Given the description of an element on the screen output the (x, y) to click on. 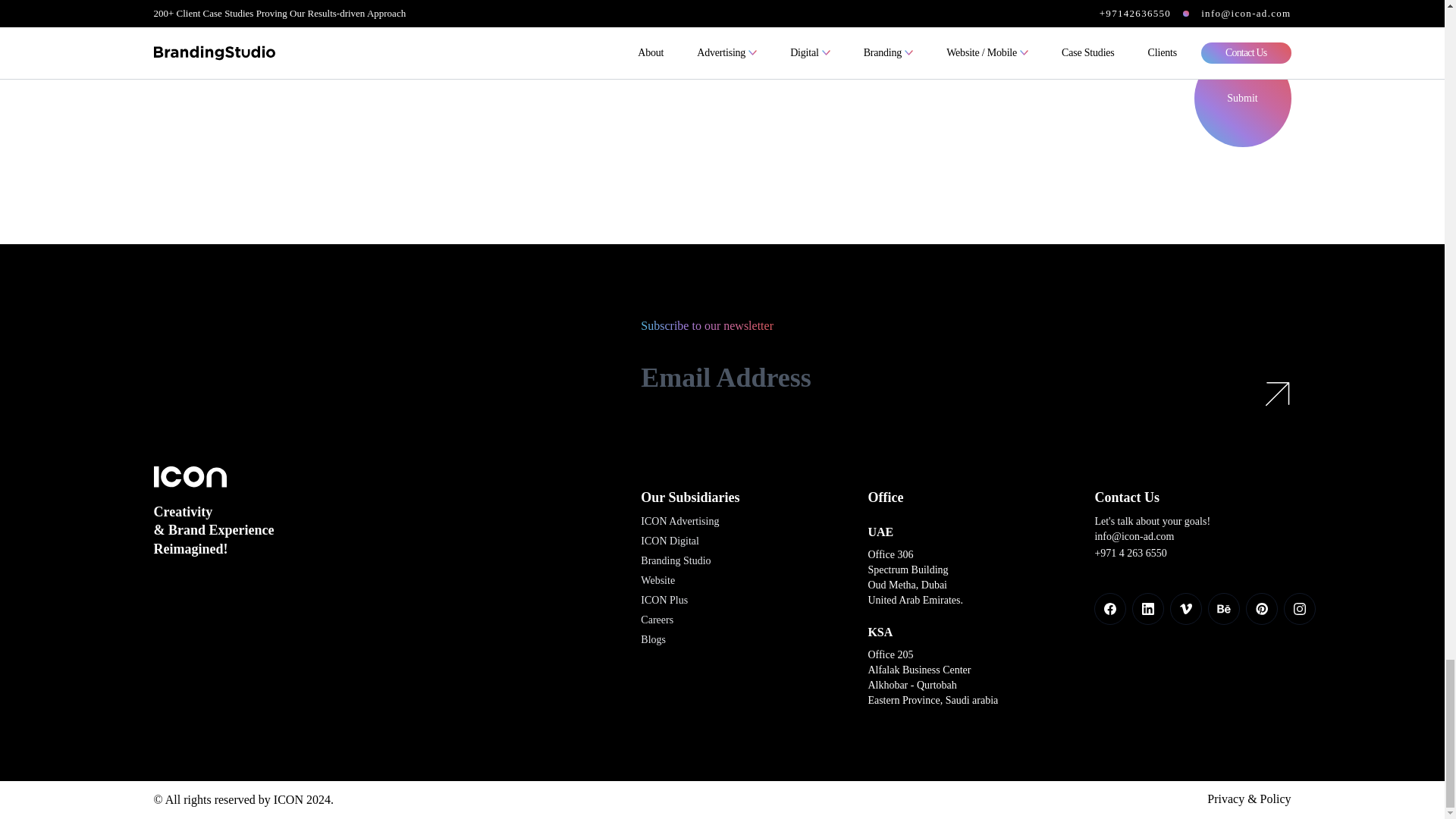
Submit (1241, 98)
ICON Advertising (679, 522)
Submit (1241, 98)
